Given the description of an element on the screen output the (x, y) to click on. 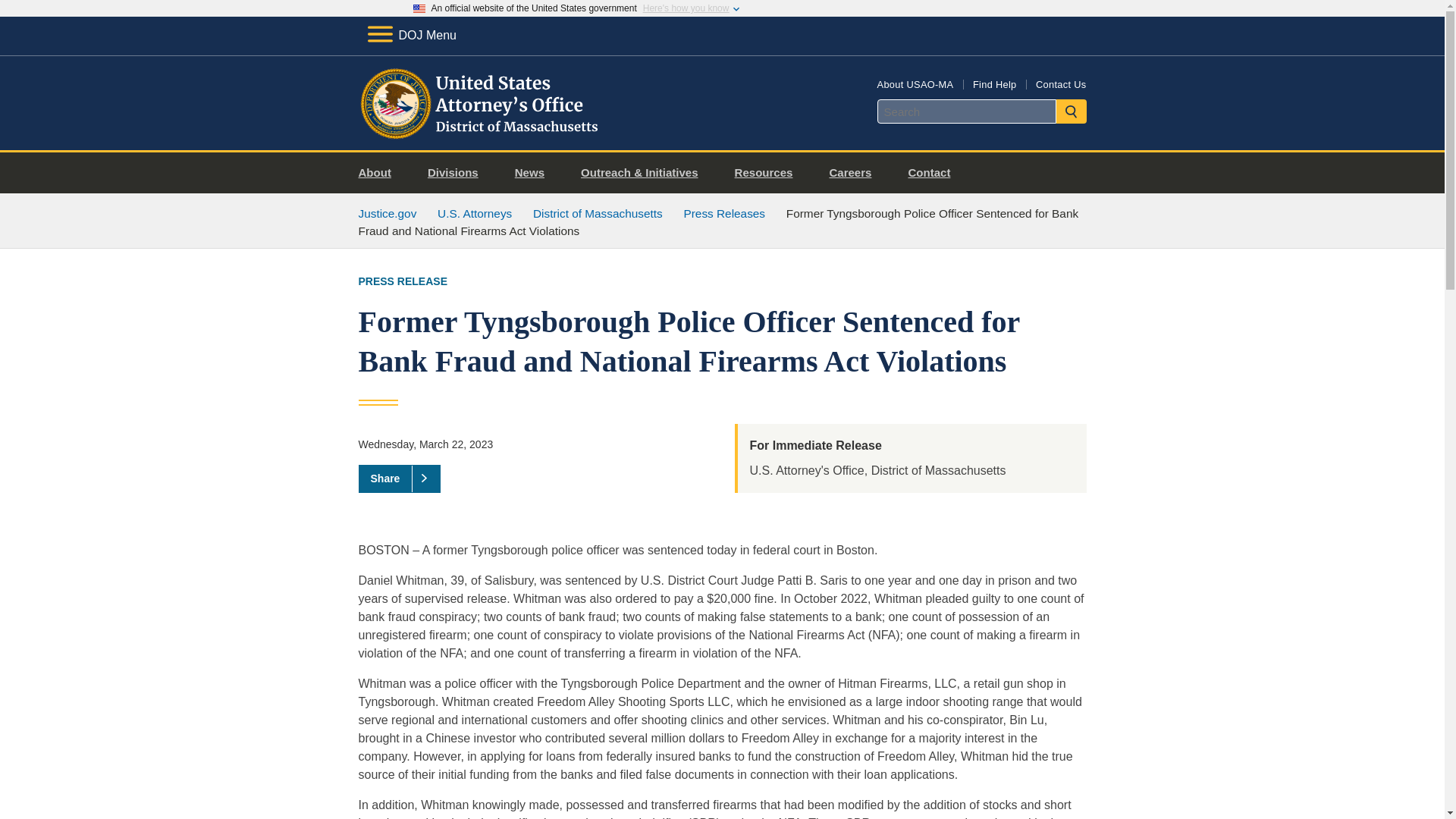
Justice.gov (387, 213)
Home (481, 132)
U.S. Attorneys (475, 213)
Contact (934, 173)
Contact Us (1060, 84)
Press Releases (723, 213)
About USAO-MA (915, 84)
Divisions (458, 173)
Here's how you know (686, 8)
About (380, 173)
